Given the description of an element on the screen output the (x, y) to click on. 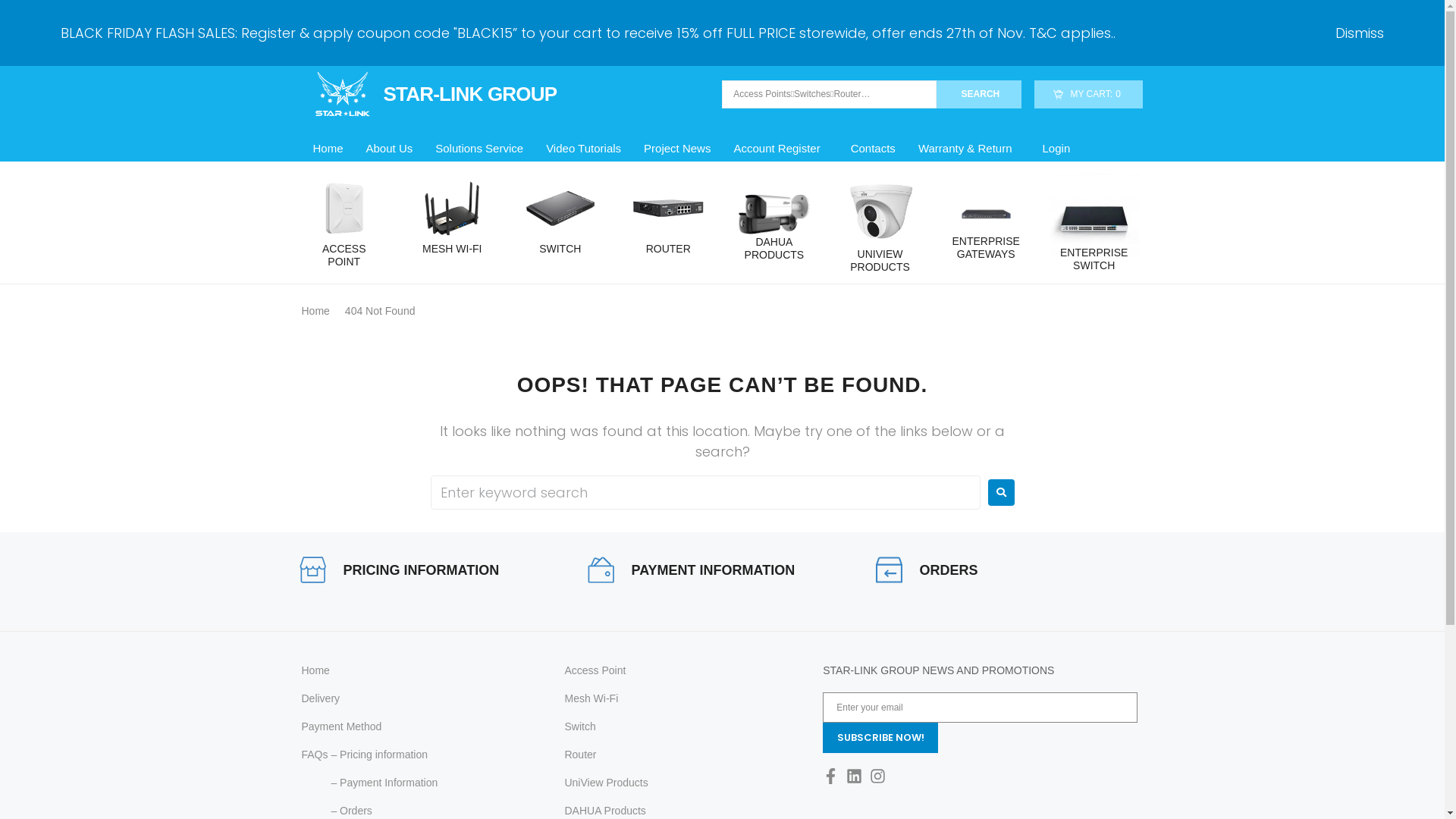
MESH WI-FI Element type: text (452, 248)
SWITCH Element type: text (559, 248)
Home Element type: text (327, 148)
Payment Method Element type: text (421, 726)
WISHLIST Element type: text (1105, 20)
ENTERPRISE GATEWAYS Element type: text (985, 247)
UniView Products Element type: text (682, 782)
PAYMENT INFORMATION Element type: text (712, 570)
Video Tutorials Element type: text (583, 148)
DAHUA PRODUCTS Element type: text (774, 248)
Project News Element type: text (676, 148)
Home Element type: text (421, 670)
PRICING INFORMATION Element type: text (420, 569)
ENTERPRISE SWITCH Element type: text (1094, 259)
About Us Element type: text (389, 148)
Login Element type: text (1056, 148)
Home Element type: text (315, 310)
Mesh Wi-Fi Element type: text (682, 698)
MY CART:
0 Element type: text (1088, 94)
Dismiss Element type: text (1359, 32)
Account Register Element type: text (779, 148)
Router Element type: text (682, 754)
Delivery Element type: text (421, 698)
STAR-LINK GROUP Element type: text (429, 93)
ROUTER Element type: text (668, 248)
Warranty & Return Element type: text (968, 148)
ACCESS POINT Element type: text (344, 255)
SUBSCRIBE NOW! Element type: text (880, 737)
SEARCH Element type: text (979, 94)
Solutions Service Element type: text (478, 148)
UNIVIEW PRODUCTS Element type: text (879, 260)
Access Point Element type: text (682, 670)
ORDERS Element type: text (948, 569)
Switch Element type: text (682, 726)
DAHUA Products Element type: text (682, 810)
Contacts Element type: text (872, 148)
